Given the description of an element on the screen output the (x, y) to click on. 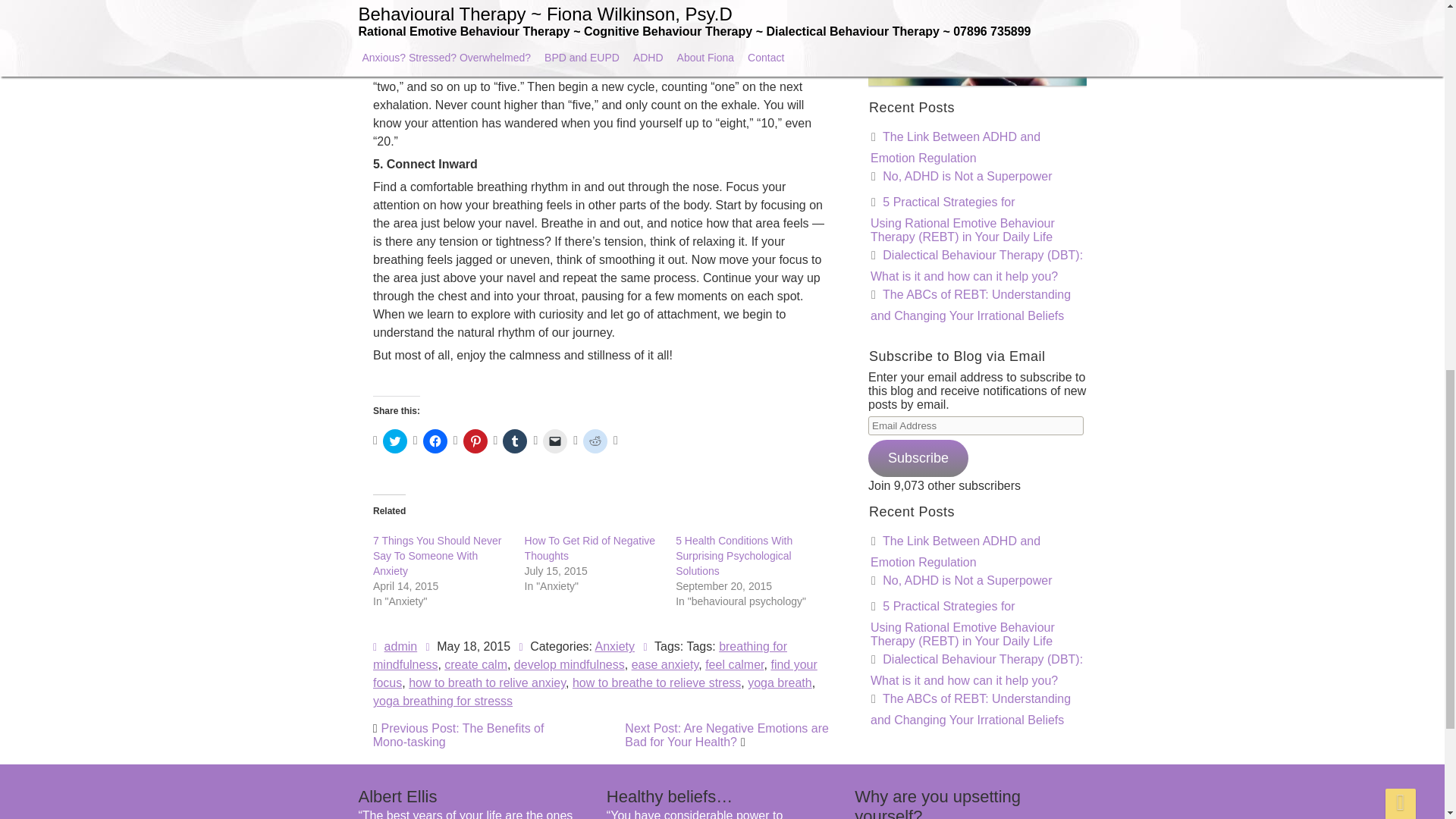
Anxiety (614, 532)
Click to share on Facebook (434, 441)
Subscribe (917, 456)
yoga breathing for stresss (454, 664)
Click to share on Tumblr (514, 441)
Click to share on Pinterest (474, 441)
how to breath to relive anxiey (503, 627)
Next Post: Are Negative Emotions are Bad for Your Health? (726, 734)
create calm (499, 564)
Click to share on Twitter (394, 441)
Click to share on Reddit (595, 441)
How To Get Rid of Negative Thoughts (609, 419)
7 Things You Should Never Say To Someone With Anxiety (436, 555)
5 Health Conditions With Surprising Psychological Solutions (733, 555)
The Link Between ADHD and Emotion Regulation (955, 145)
